Given the description of an element on the screen output the (x, y) to click on. 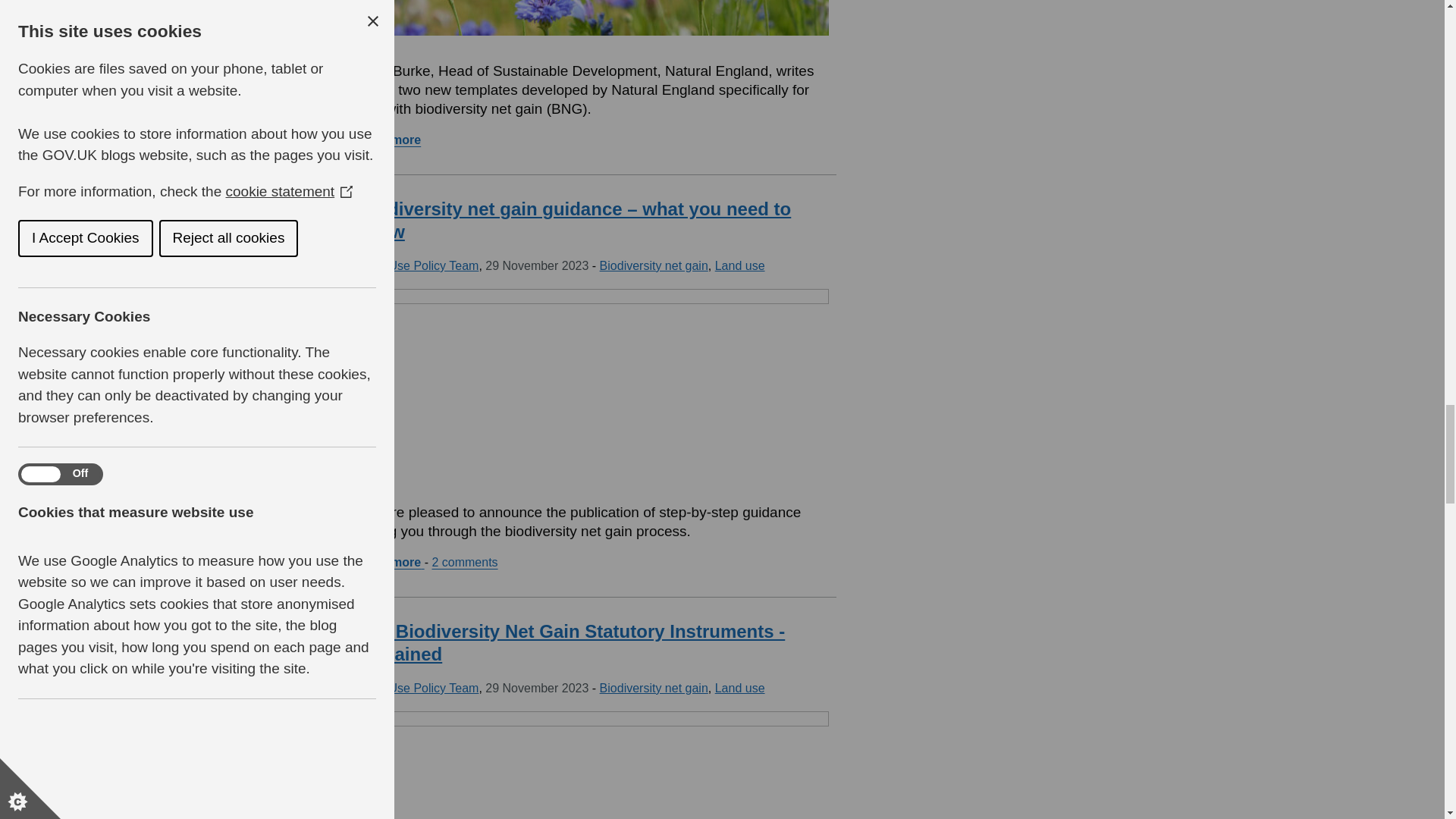
Land Use Policy Team (418, 265)
Posts by Land Use Policy Team (418, 265)
Posts by Land Use Policy Team (418, 687)
Biodiversity net gain (653, 265)
